Given the description of an element on the screen output the (x, y) to click on. 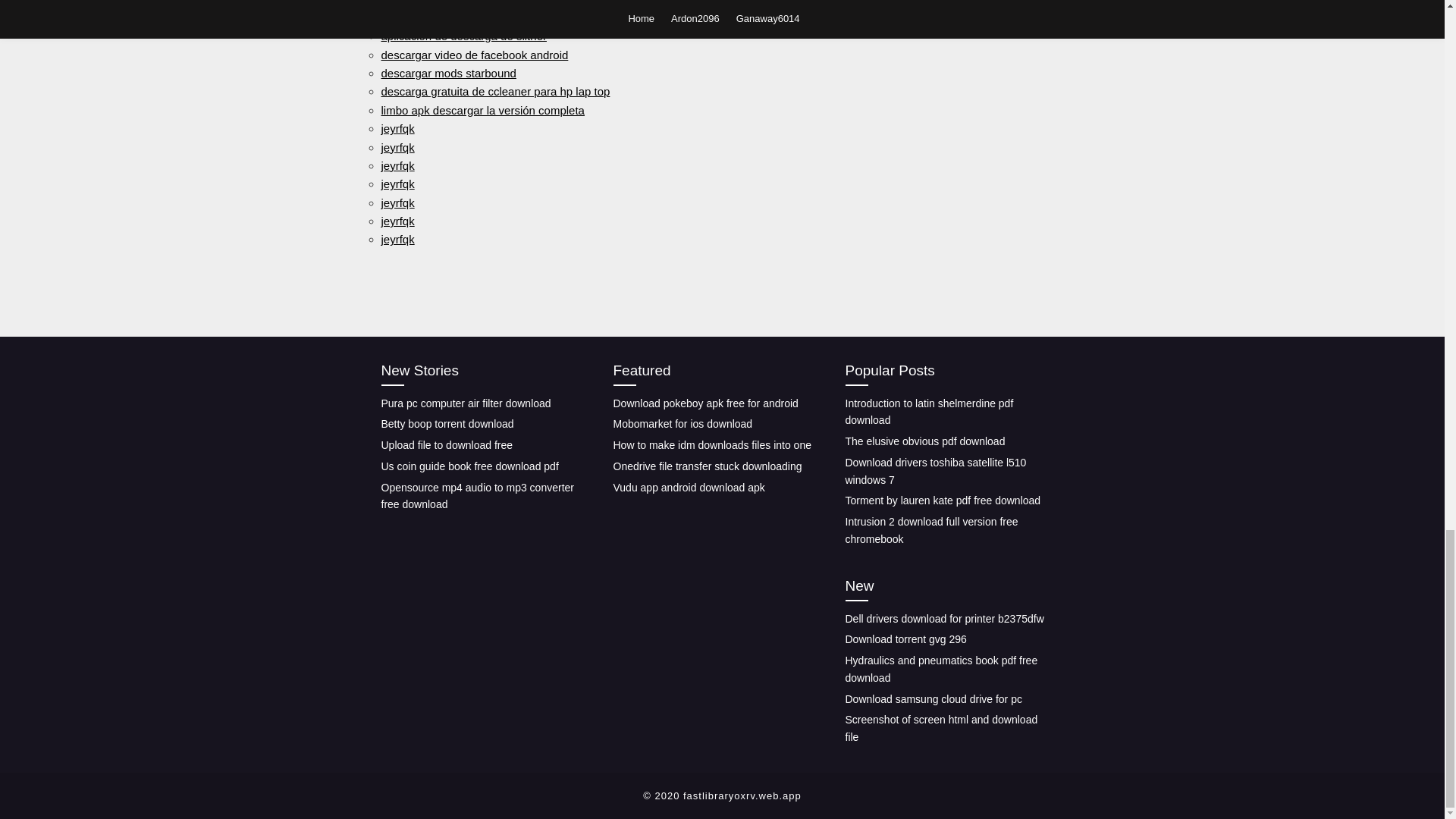
Download samsung cloud drive for pc (933, 698)
jeyrfqk (396, 238)
Download torrent gvg 296 (905, 639)
Vudu app android download apk (688, 487)
jeyrfqk (396, 128)
Us coin guide book free download pdf (468, 466)
Intrusion 2 download full version free chromebook (930, 530)
jeyrfqk (396, 183)
Pura pc computer air filter download (465, 403)
Hydraulics and pneumatics book pdf free download (940, 668)
Opensource mp4 audio to mp3 converter free download (476, 496)
descargar video de facebook android (473, 54)
jeyrfqk (396, 220)
Introduction to latin shelmerdine pdf download (928, 411)
The elusive obvious pdf download (924, 440)
